Given the description of an element on the screen output the (x, y) to click on. 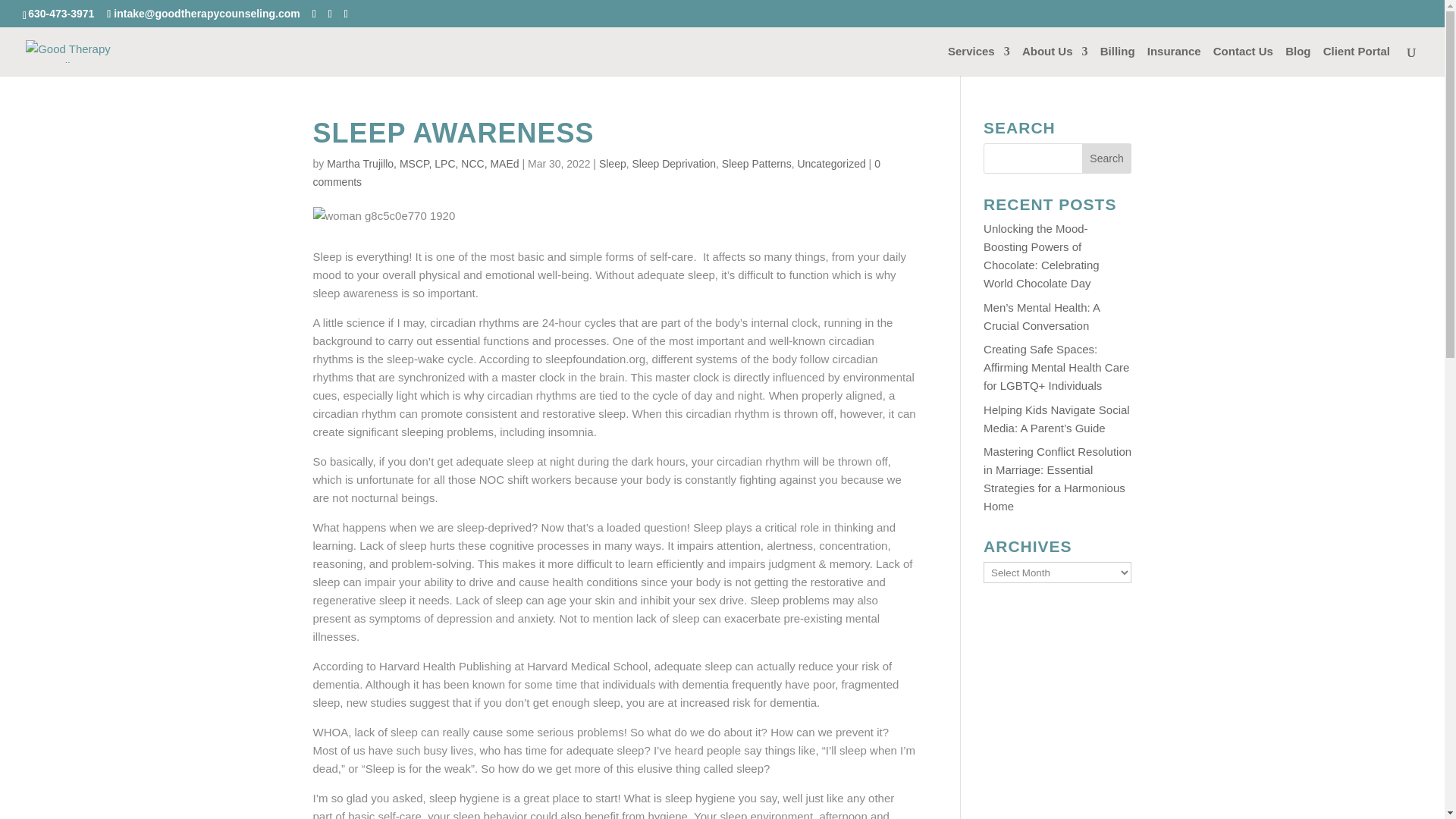
Services (978, 60)
Posts by Martha Trujillo, MSCP, LPC, NCC, MAEd (422, 163)
Client Portal (1356, 60)
Search (1106, 158)
About Us (1054, 60)
Billing (1117, 60)
Insurance (1174, 60)
Contact Us (1242, 60)
